Given the description of an element on the screen output the (x, y) to click on. 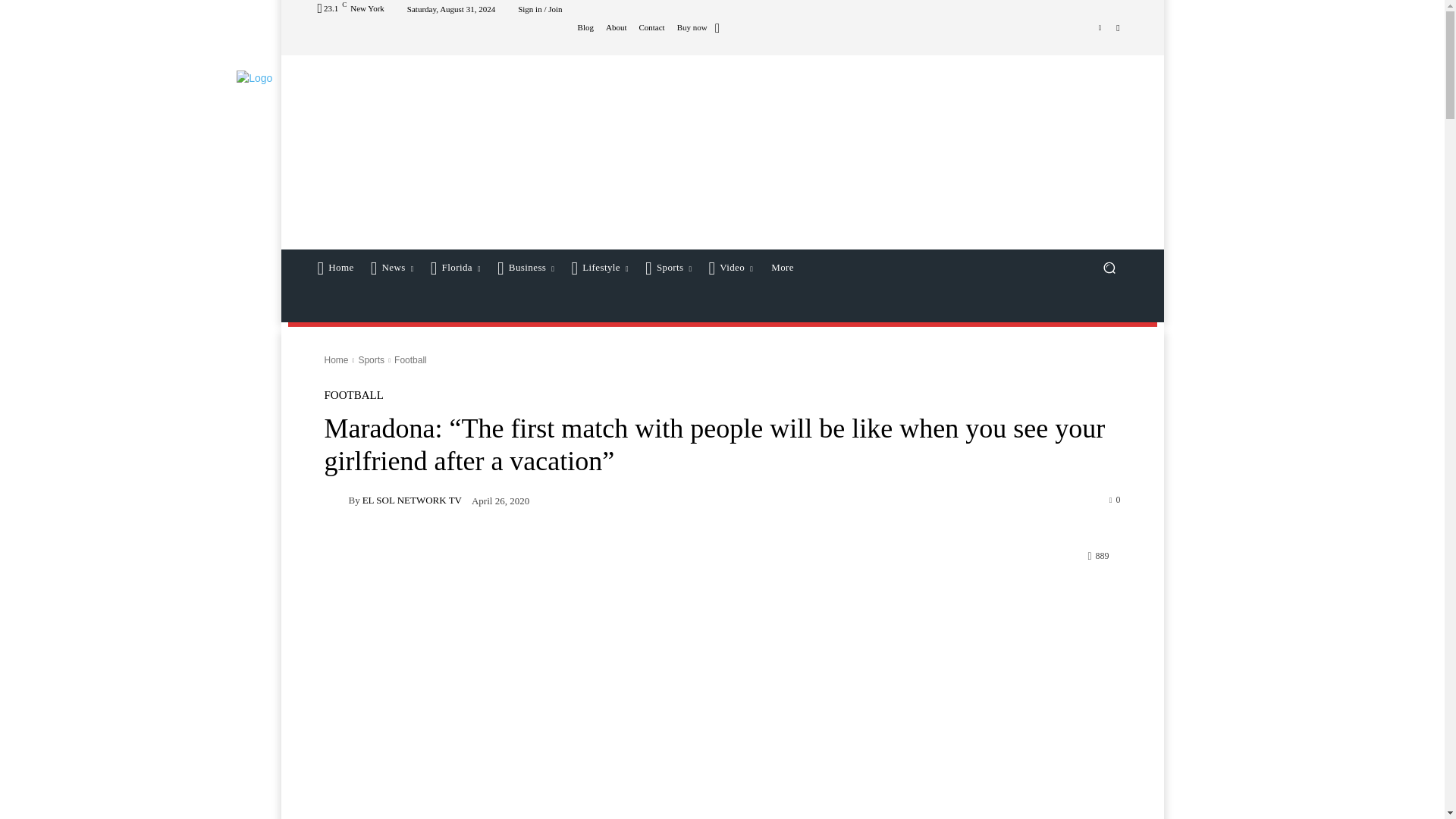
Vimeo (1099, 27)
Contact (651, 27)
Youtube (1117, 27)
Blog (586, 27)
About (616, 27)
